Given the description of an element on the screen output the (x, y) to click on. 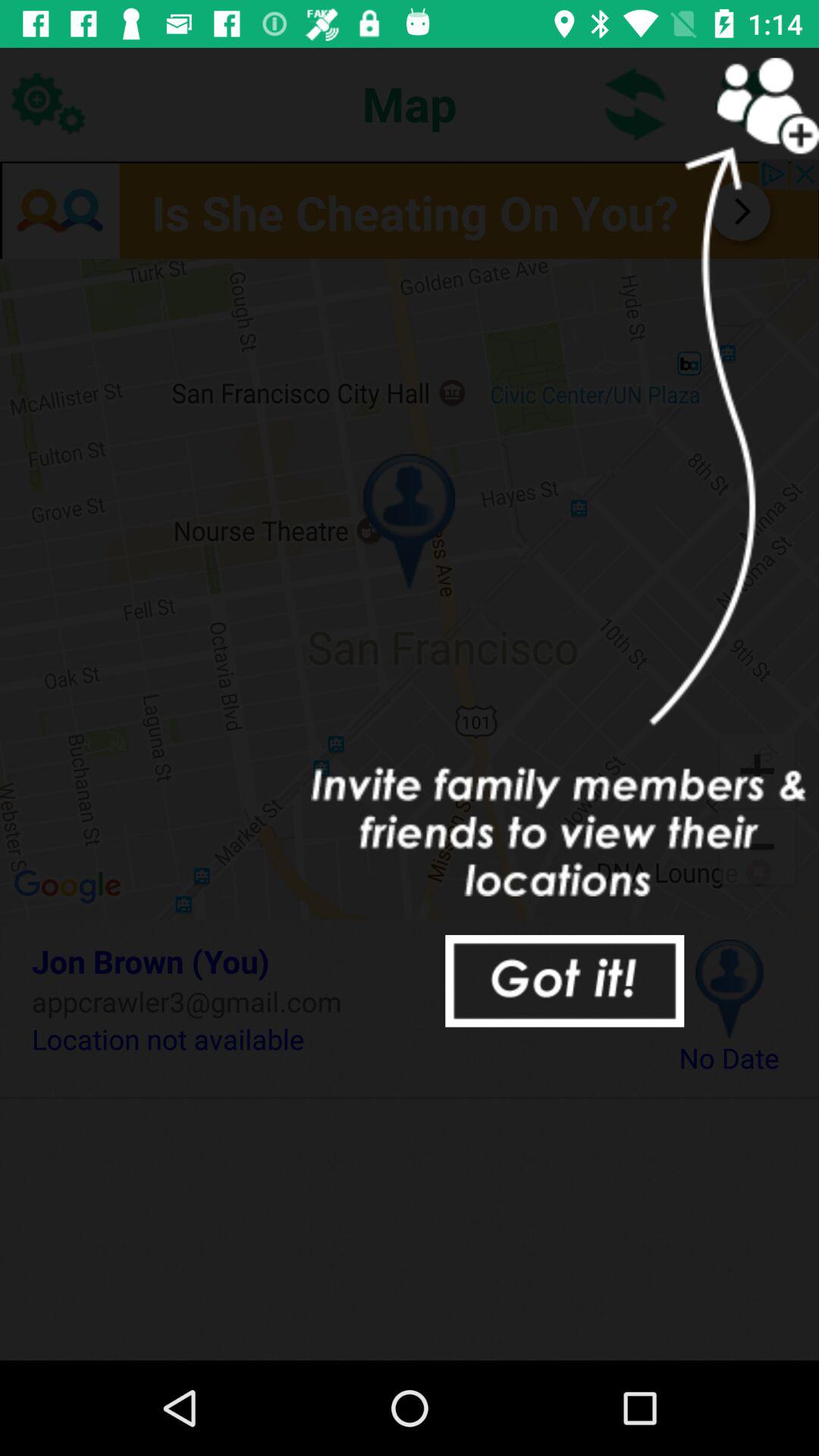
turn off the appcrawler3@gmail.com icon (332, 1001)
